Given the description of an element on the screen output the (x, y) to click on. 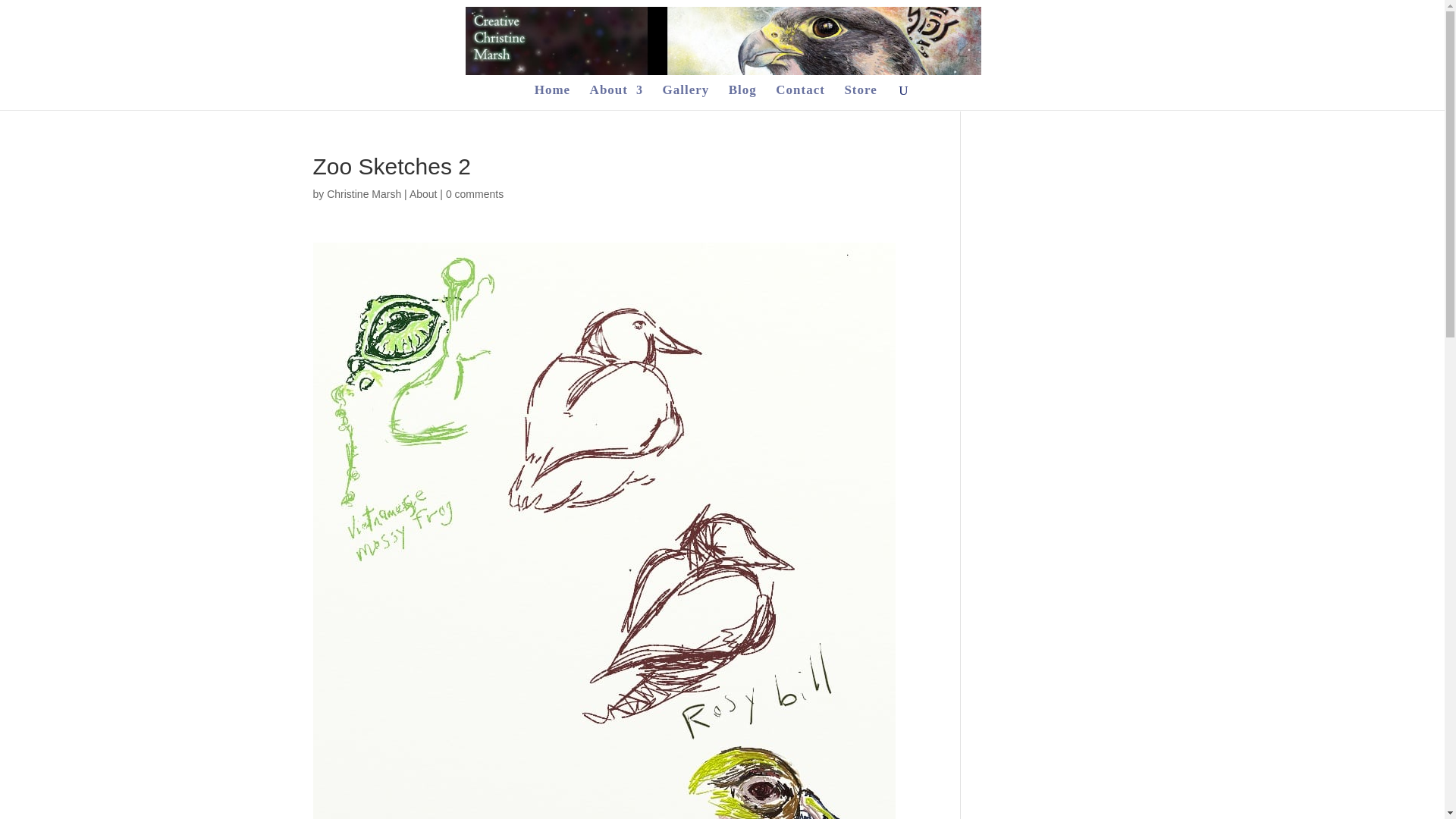
Home (552, 97)
Gallery (685, 97)
Home (552, 97)
Posts by Christine Marsh (363, 193)
Blog (743, 97)
0 comments (474, 193)
Christine Marsh (363, 193)
Contact (800, 97)
About (423, 193)
Store (860, 97)
